Given the description of an element on the screen output the (x, y) to click on. 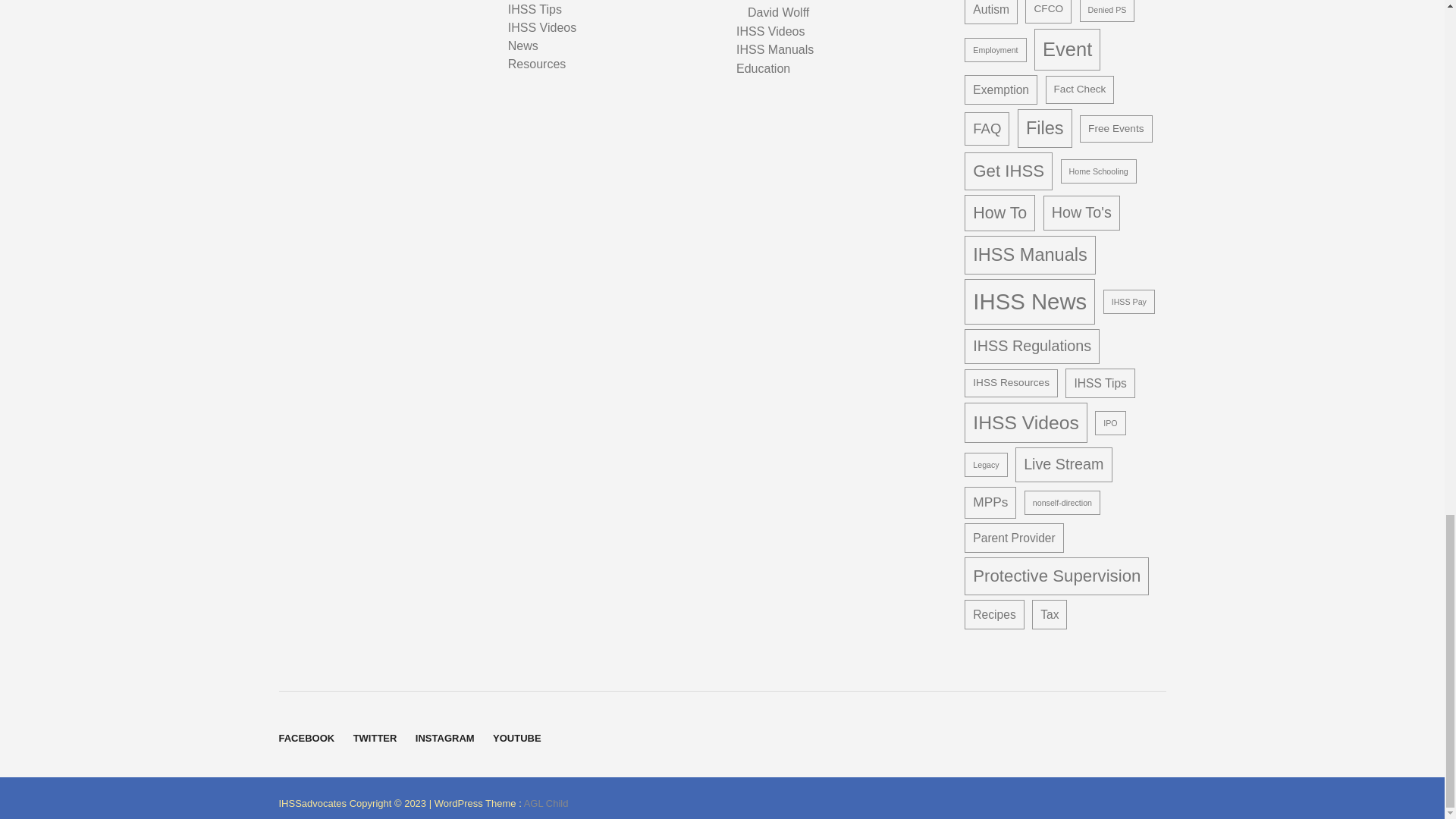
IHSS FAQs (539, 0)
IHSS Videos (542, 27)
News (523, 45)
David Wolff (778, 13)
IHSS Videos (770, 31)
Education (763, 68)
Larry Rosen (780, 1)
IHSS Tips (535, 9)
Resources (537, 64)
IHSS Manuals (774, 49)
